Given the description of an element on the screen output the (x, y) to click on. 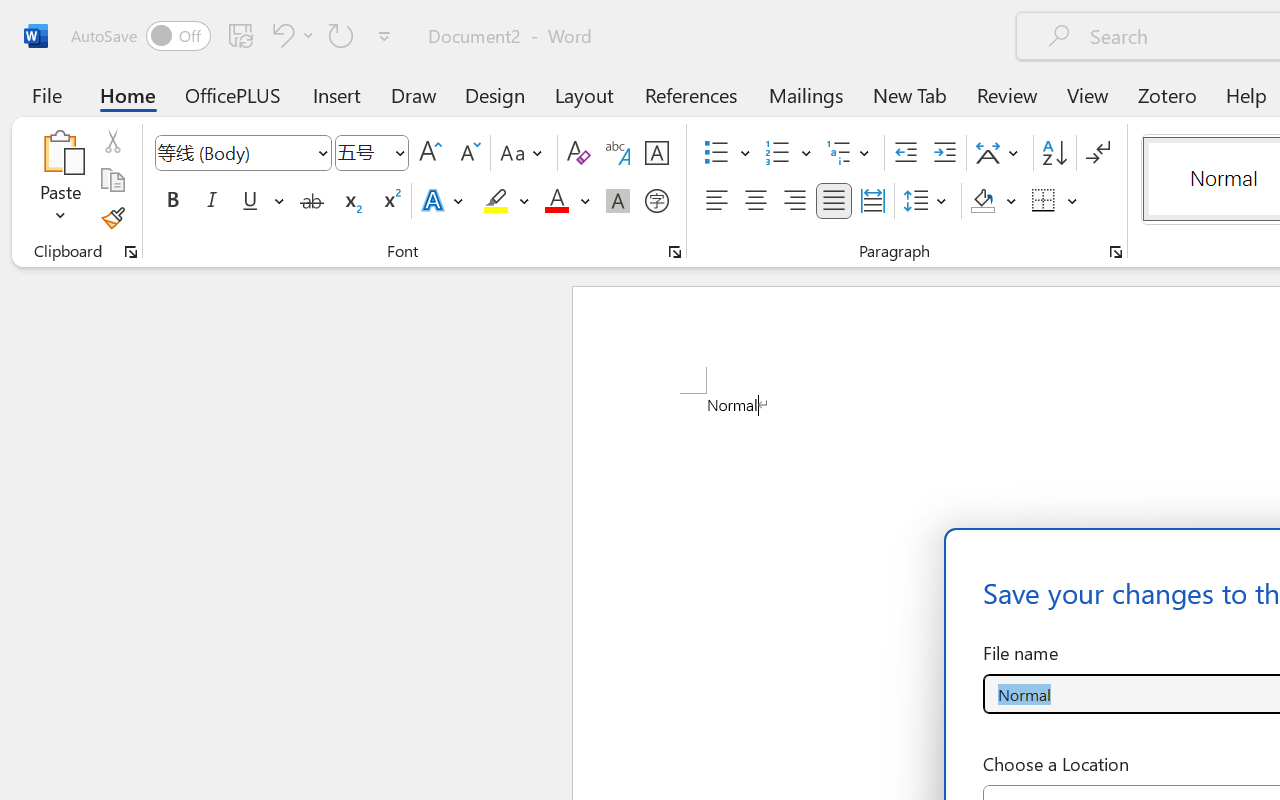
Font (242, 153)
Strikethrough (312, 201)
Text Highlight Color Yellow (495, 201)
Align Right (794, 201)
Italic (212, 201)
Shrink Font (468, 153)
Review (1007, 94)
View (1087, 94)
Draw (413, 94)
Line and Paragraph Spacing (927, 201)
Underline (261, 201)
Copy (112, 179)
Distributed (872, 201)
Open (399, 152)
Text Effects and Typography (444, 201)
